Given the description of an element on the screen output the (x, y) to click on. 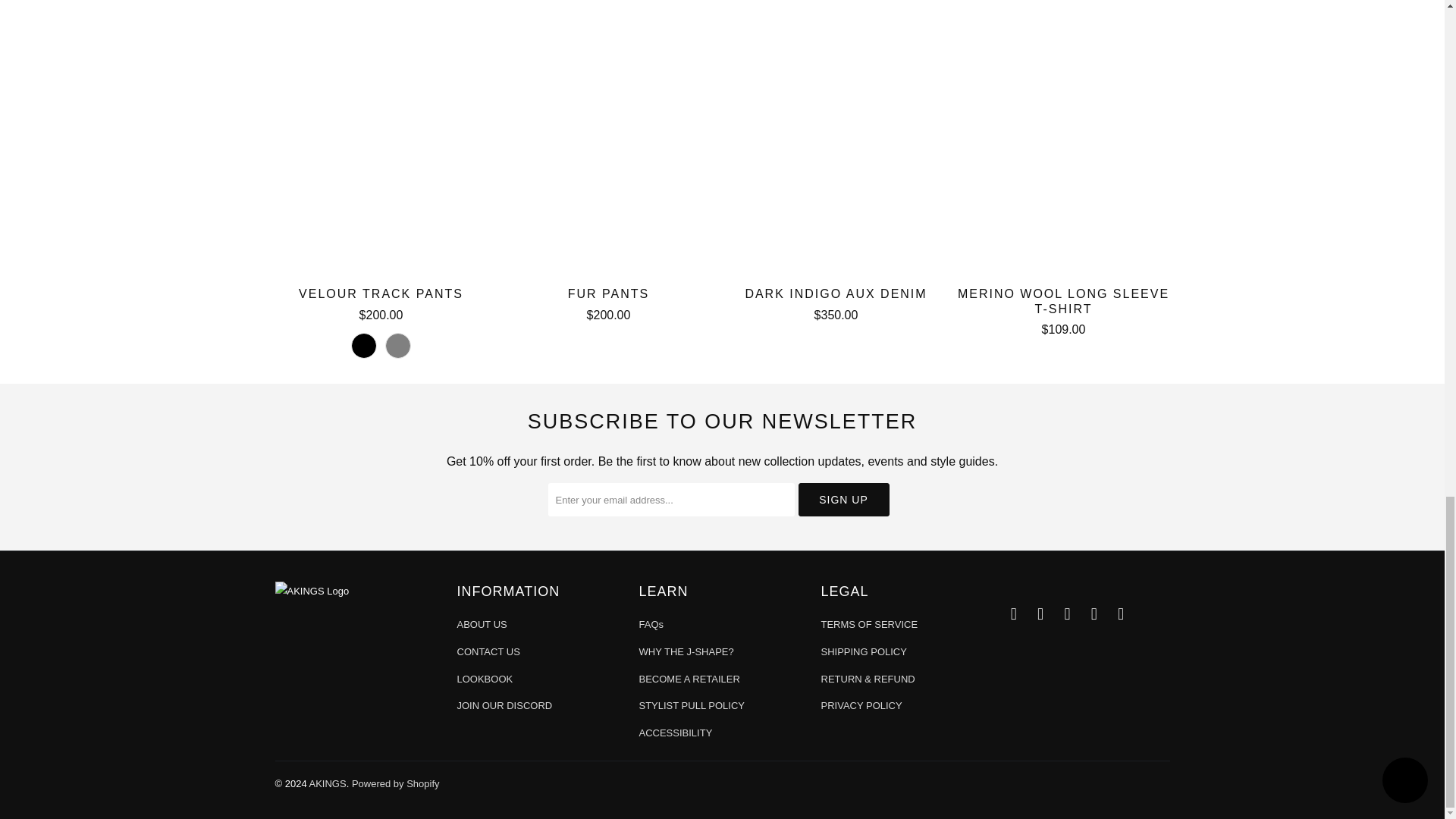
AKINGS on YouTube (1120, 614)
AKINGS on Pinterest (1067, 614)
Sign Up (842, 499)
AKINGS on Facebook (1014, 614)
AKINGS on Twitter (1094, 614)
AKINGS on Instagram (1040, 614)
